Given the description of an element on the screen output the (x, y) to click on. 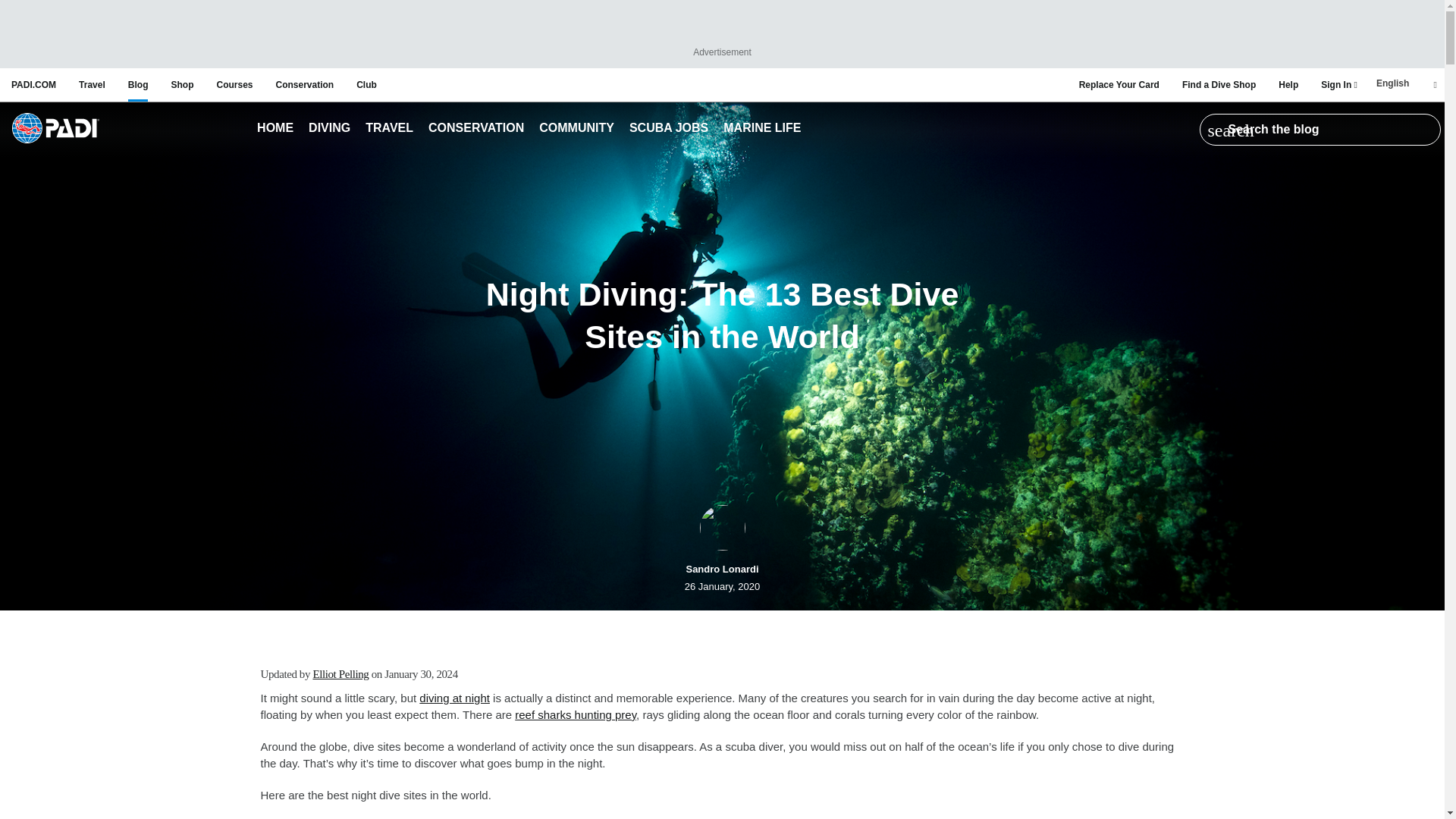
CONSERVATION (475, 128)
DIVING (329, 128)
Diving (329, 128)
Home (55, 129)
Scuba Jobs (668, 128)
Courses (233, 84)
Replace Your Card (1118, 84)
Conservation (305, 84)
HOME (275, 128)
TRAVEL (389, 128)
MARINE LIFE (762, 128)
Sign In (1338, 84)
Marine Life (762, 128)
Conservation (475, 128)
Travel (389, 128)
